Given the description of an element on the screen output the (x, y) to click on. 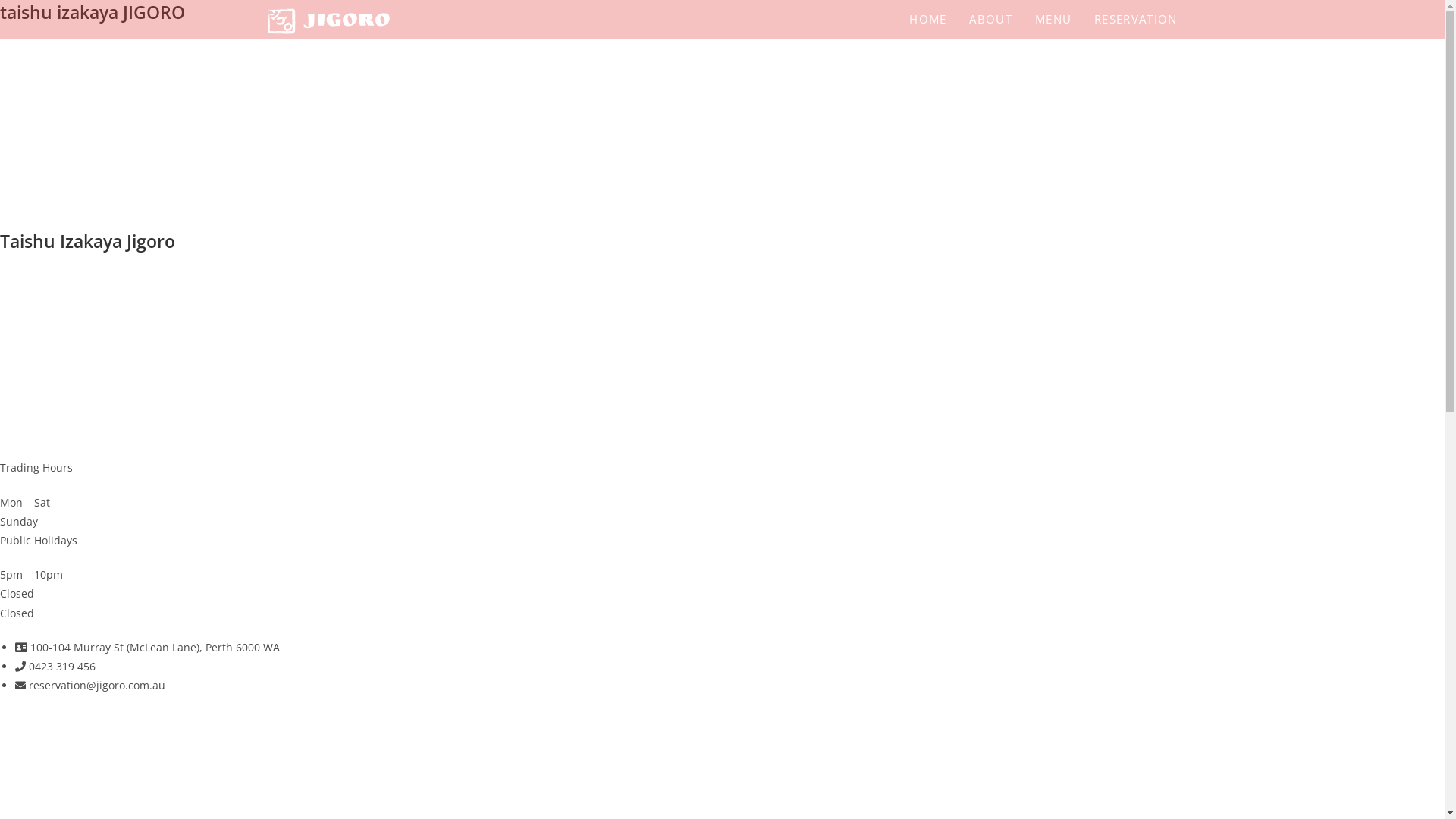
RESERVATION Element type: text (1135, 19)
Jigoro_logo1(full)-wh Element type: hover (303, 134)
HOME Element type: text (927, 19)
ABOUT Element type: text (990, 19)
MENU Element type: text (1052, 19)
Jigoro_logo1(full)-wh Element type: hover (303, 363)
